Given the description of an element on the screen output the (x, y) to click on. 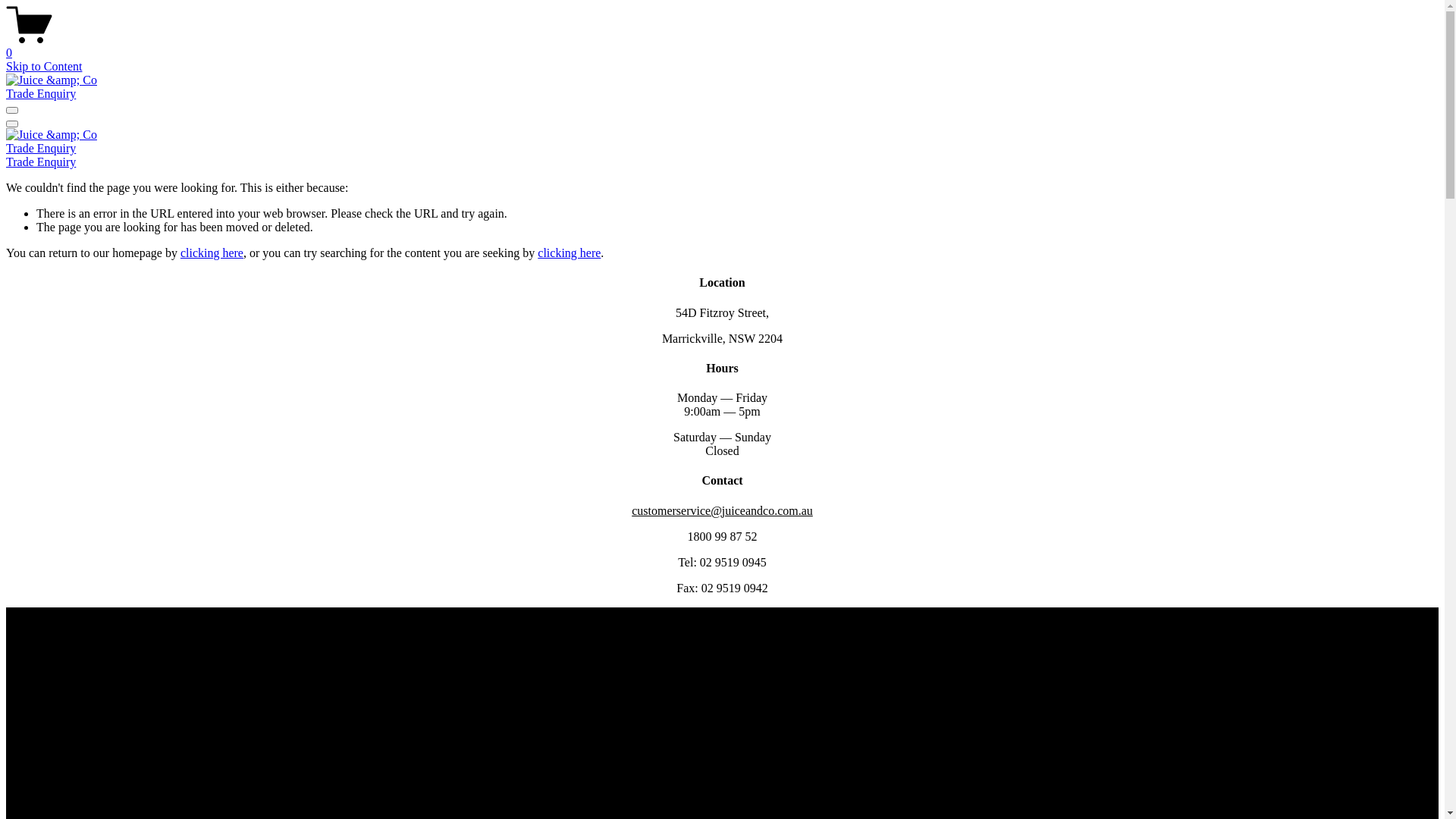
Trade Enquiry Element type: text (40, 93)
0 Element type: text (722, 45)
clicking here Element type: text (568, 252)
Trade Enquiry Element type: text (40, 147)
Trade Enquiry Element type: text (40, 161)
Skip to Content Element type: text (43, 65)
clicking here Element type: text (211, 252)
